Given the description of an element on the screen output the (x, y) to click on. 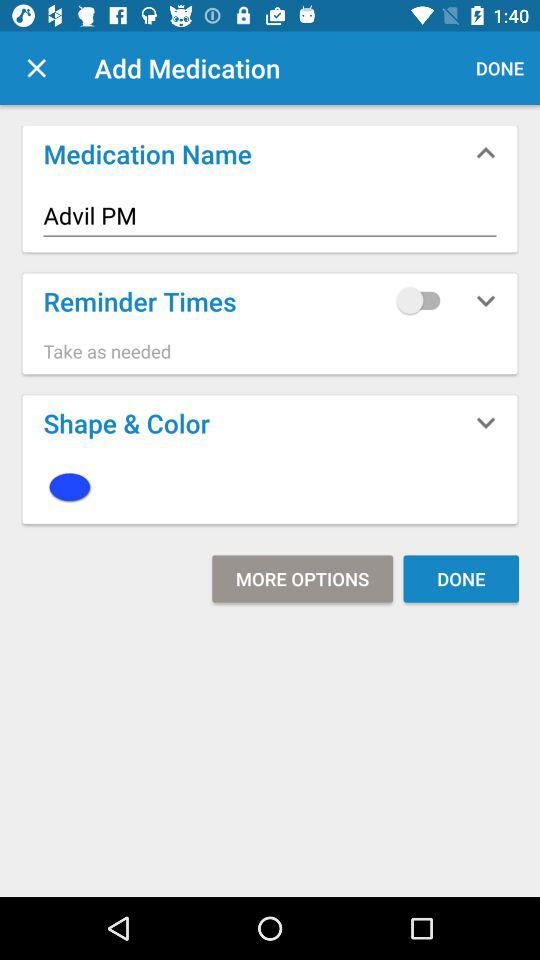
press icon next to done icon (302, 578)
